Given the description of an element on the screen output the (x, y) to click on. 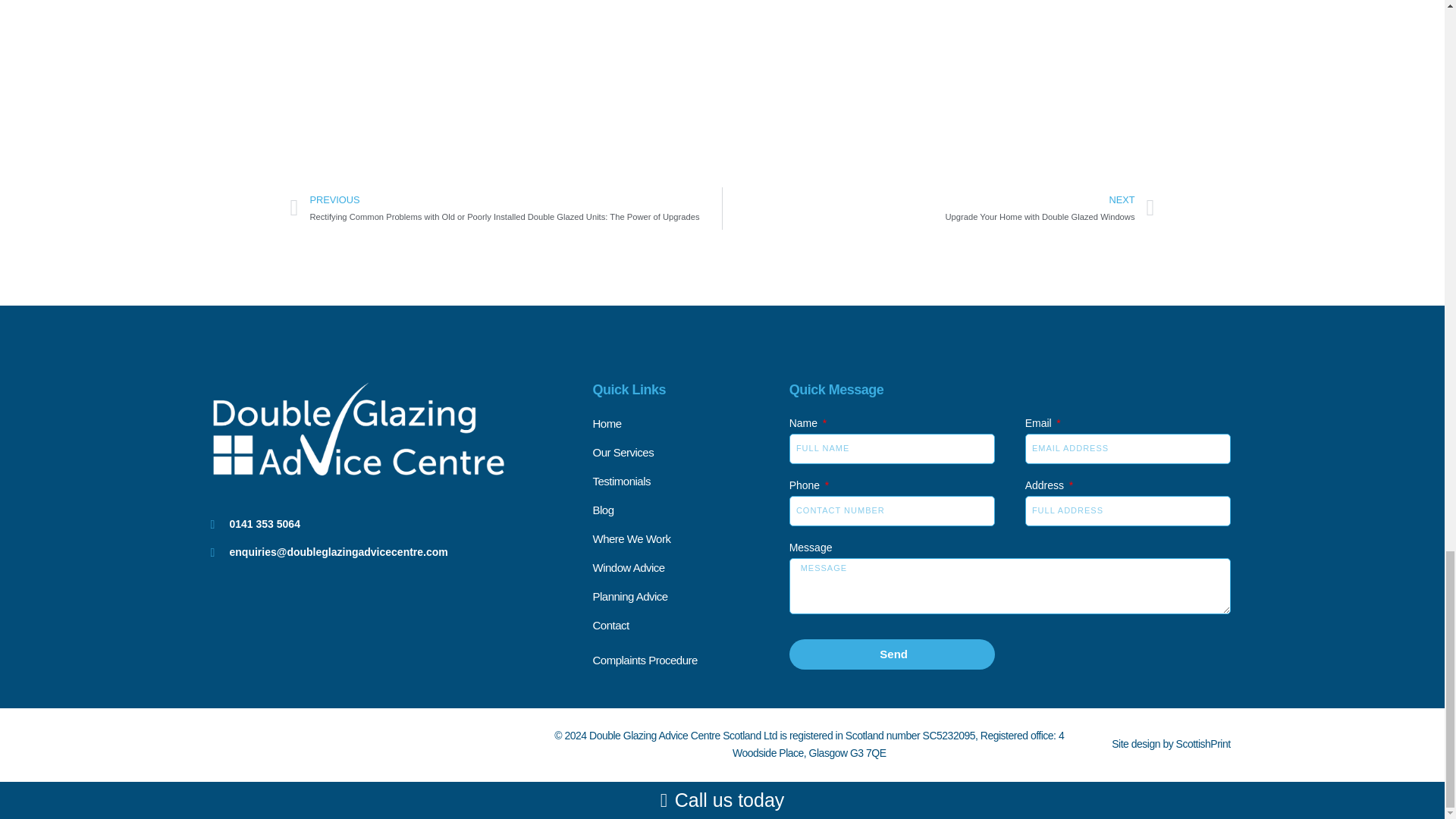
Our Services (690, 452)
Blog (690, 510)
0141 353 5064 (401, 524)
Home (690, 424)
Window Advice (938, 208)
Testimonials (690, 567)
Where We Work (690, 481)
